Given the description of an element on the screen output the (x, y) to click on. 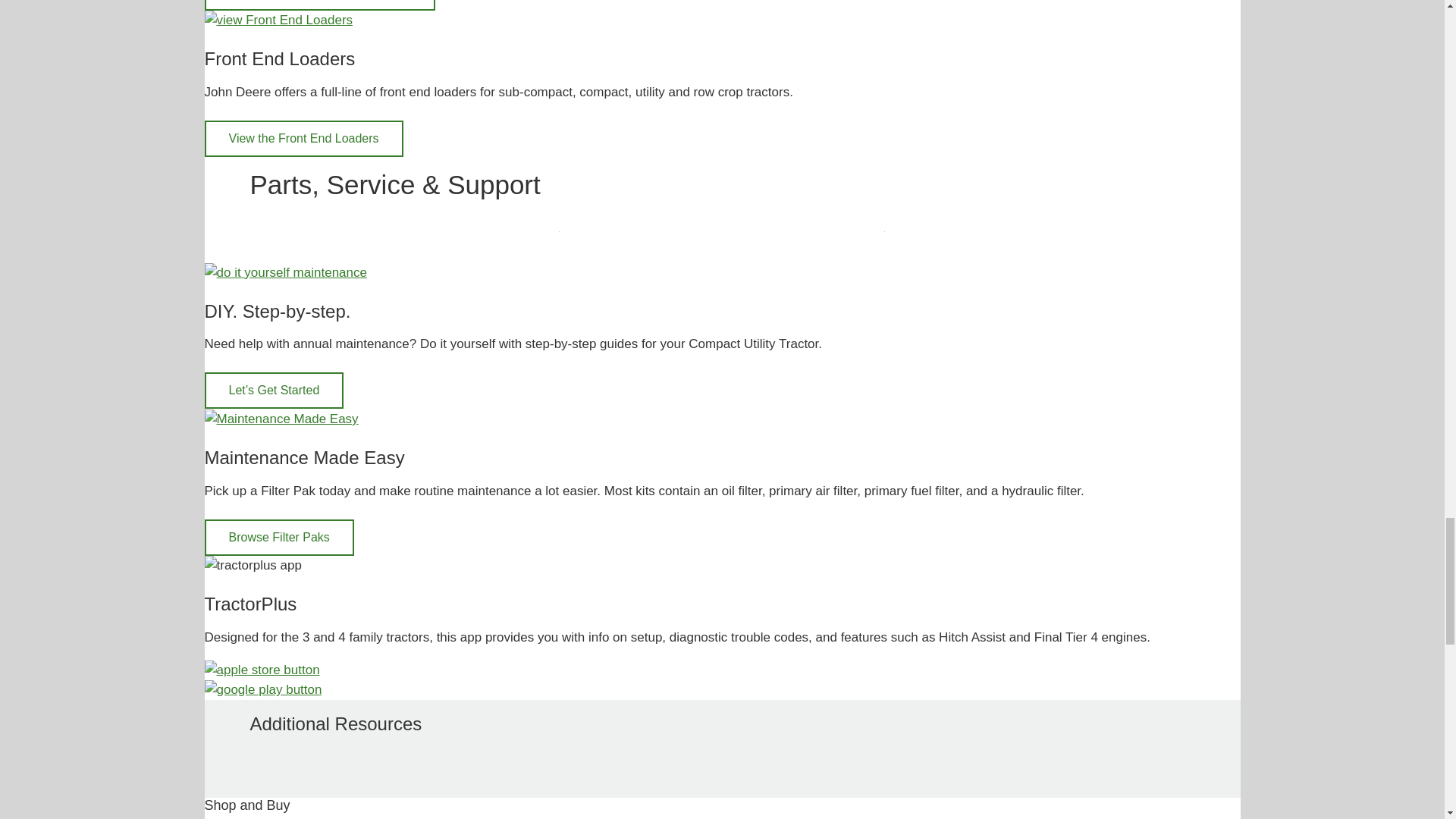
view Front End Loaders (279, 20)
Get on Google Play (263, 689)
Download on the App Store (262, 668)
tractorplus app (253, 565)
Browse Filter Paks (281, 419)
tractor in workshop (285, 272)
